Given the description of an element on the screen output the (x, y) to click on. 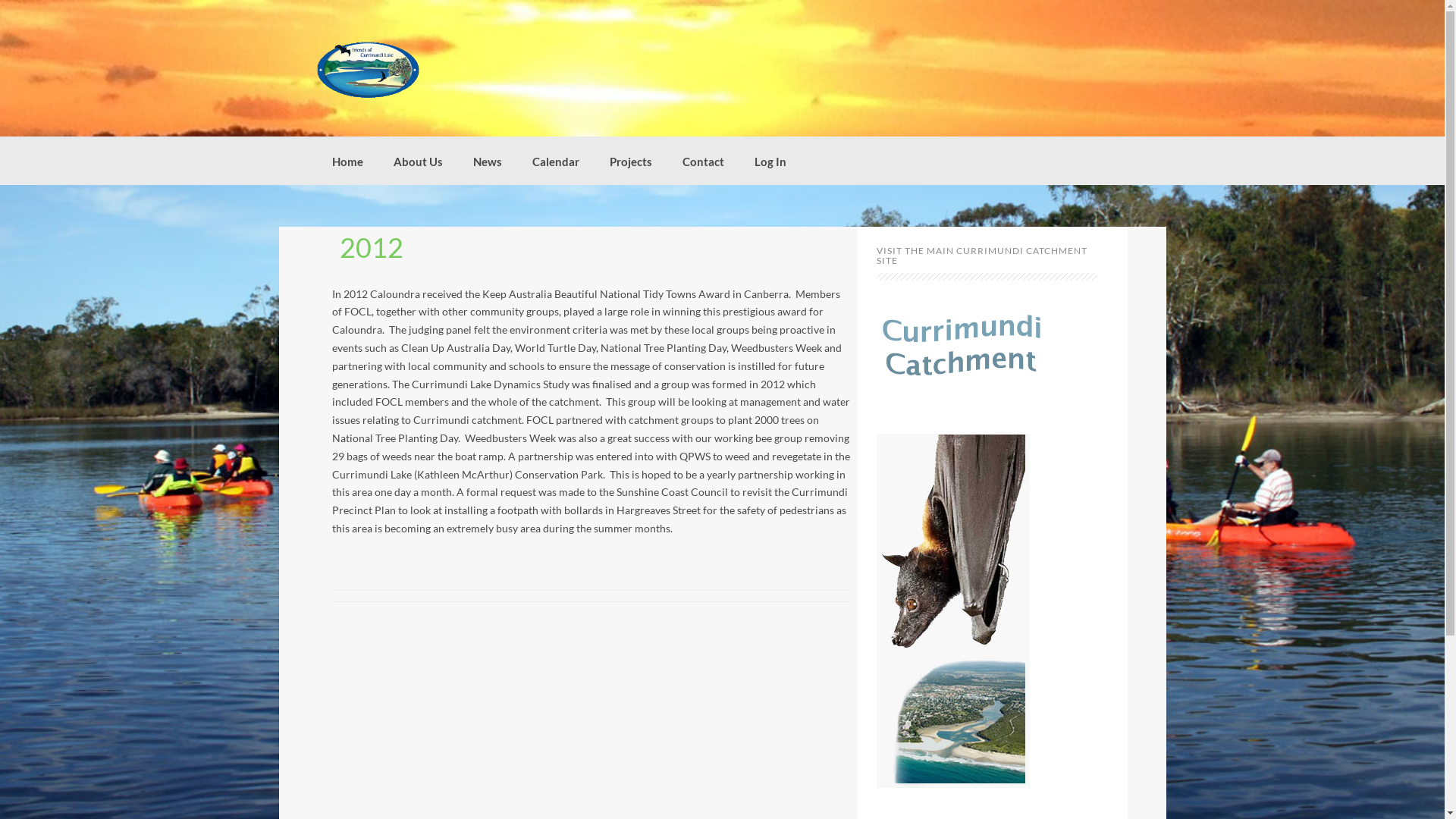
Contact Element type: text (703, 160)
currimundi catchment main site Element type: hover (961, 348)
Home Element type: text (347, 160)
News Element type: text (487, 160)
Calendar Element type: text (555, 160)
2012 Element type: text (371, 246)
Projects Element type: text (630, 160)
Log In Element type: text (769, 160)
About Us Element type: text (417, 160)
